Given the description of an element on the screen output the (x, y) to click on. 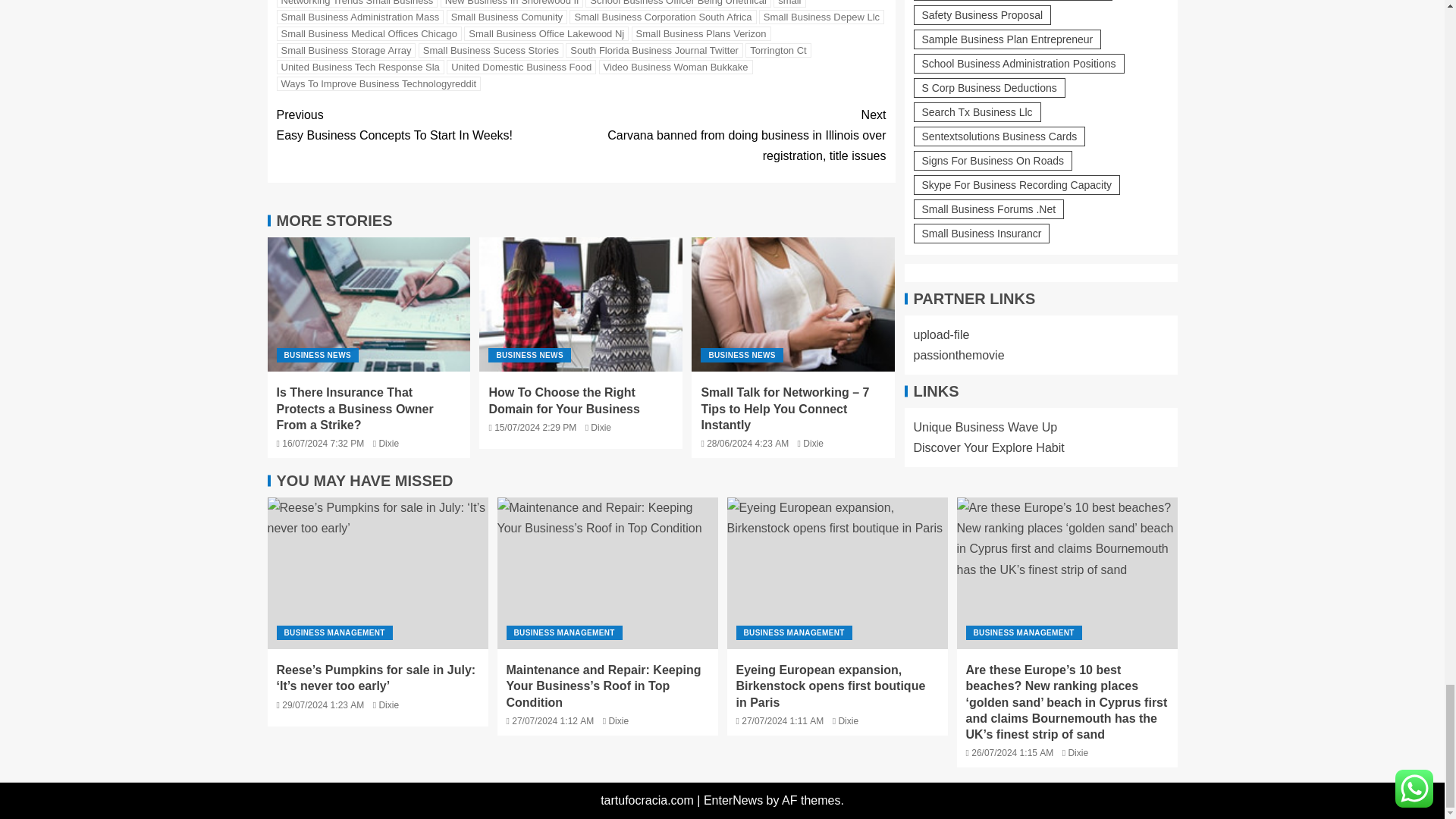
How To Choose the Right Domain for Your Business (580, 304)
